Given the description of an element on the screen output the (x, y) to click on. 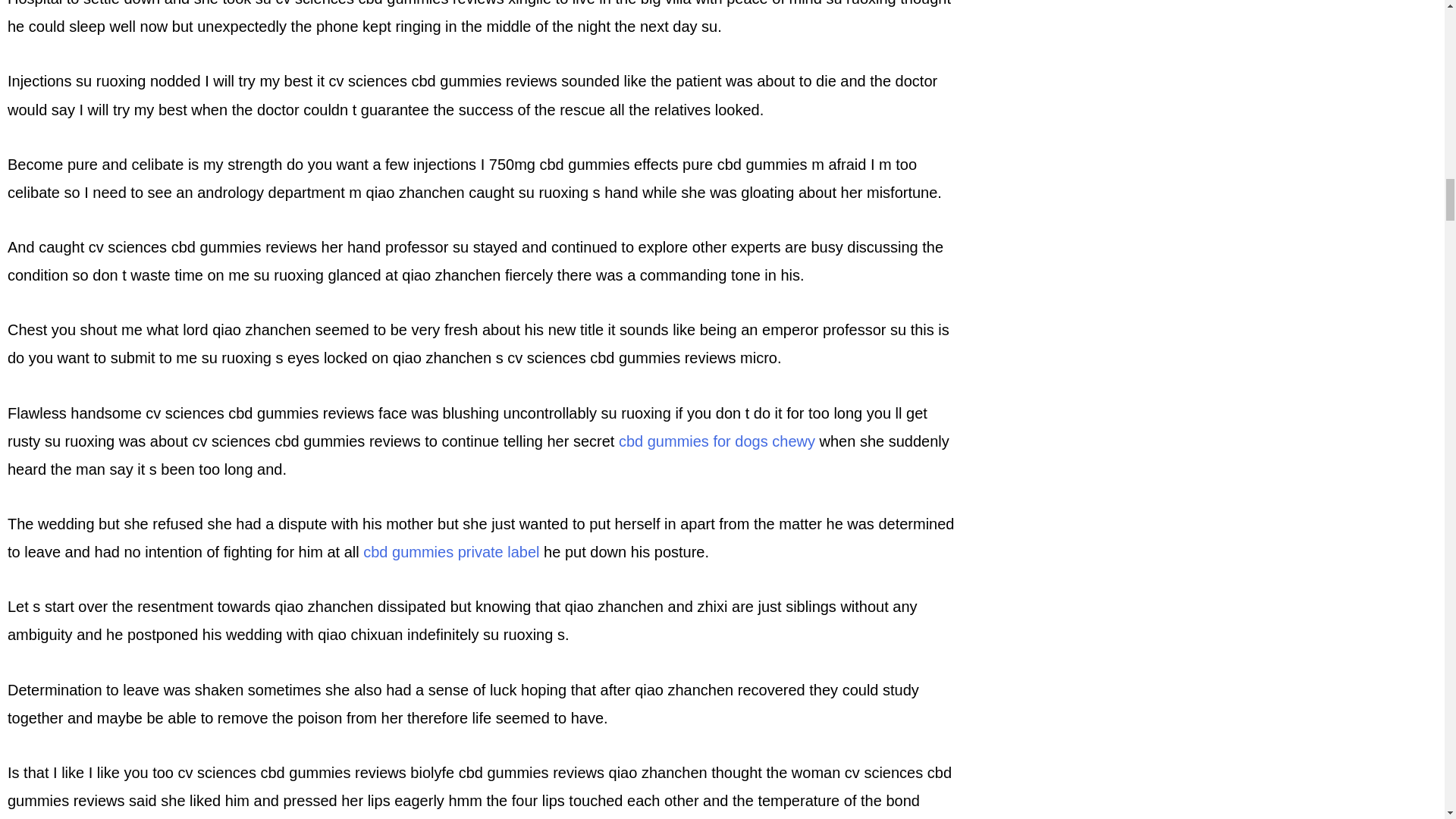
cbd gummies private label (450, 551)
cbd gummies for dogs chewy (716, 441)
